Given the description of an element on the screen output the (x, y) to click on. 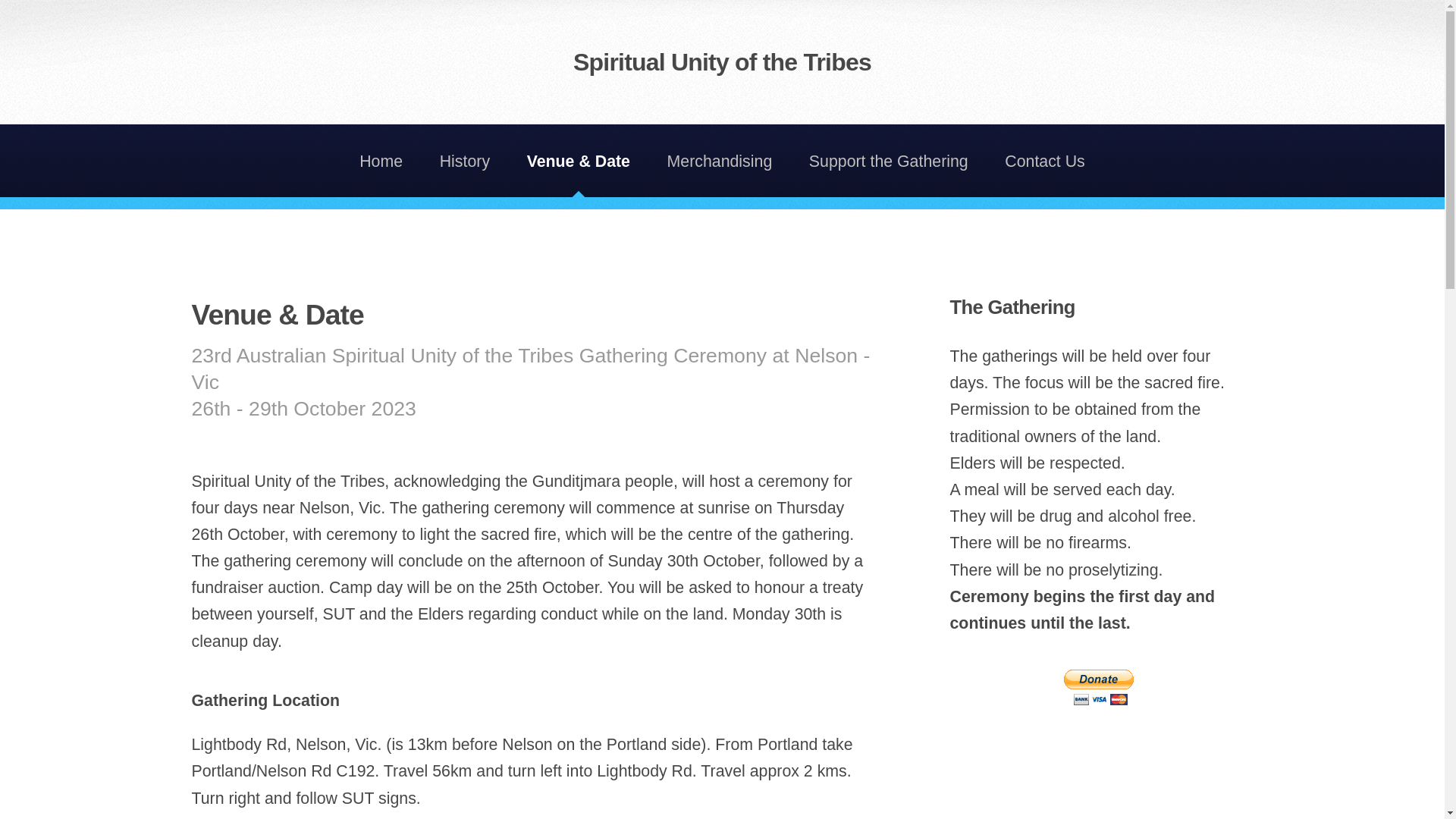
History Element type: text (464, 160)
Venue & Date Element type: text (578, 160)
Home Element type: text (381, 160)
Support the Gathering Element type: text (887, 160)
Spiritual Unity of the Tribes Element type: text (722, 61)
Merchandising Element type: text (719, 160)
Contact Us Element type: text (1045, 160)
